Given the description of an element on the screen output the (x, y) to click on. 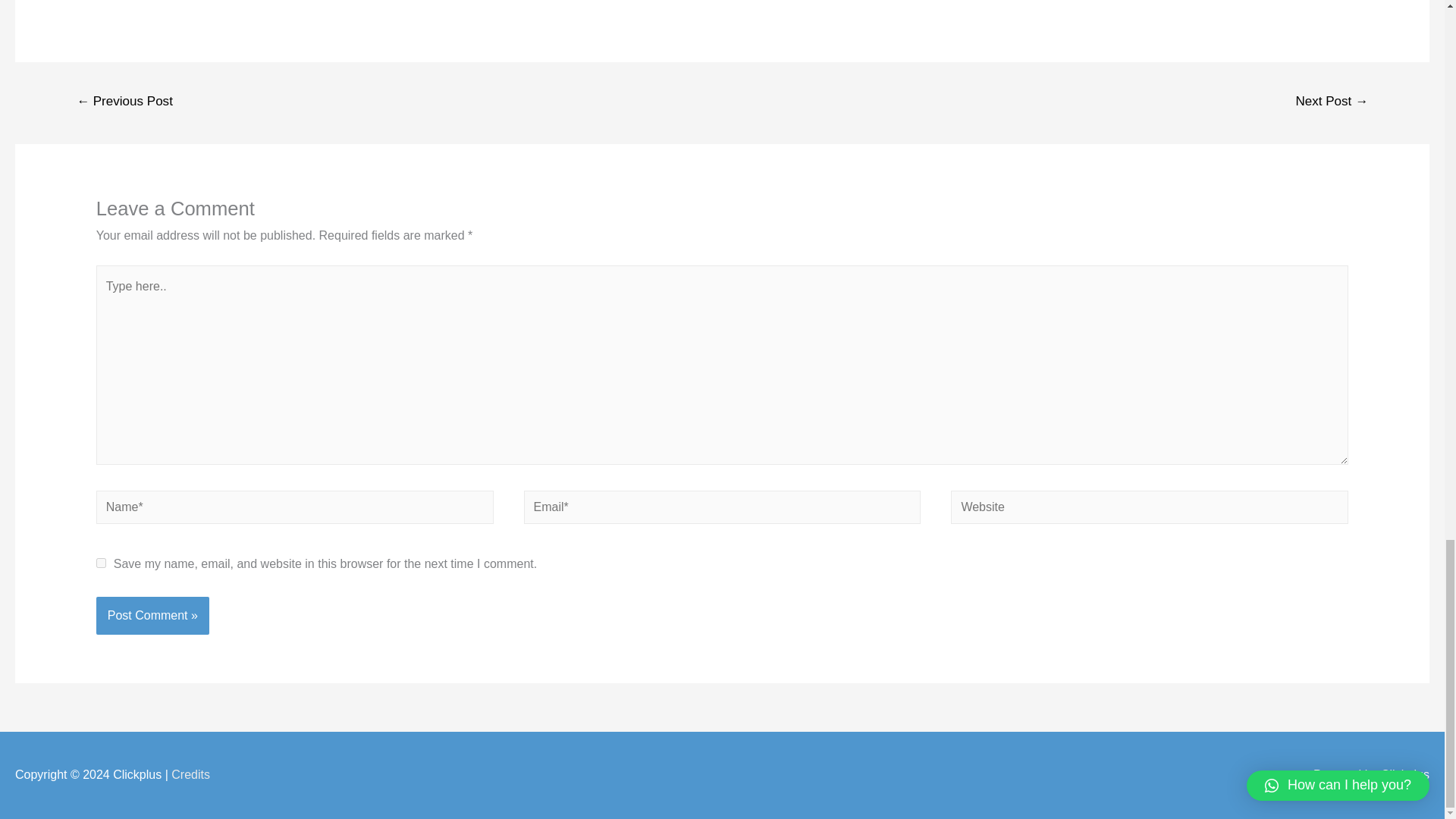
Credits (190, 774)
yes (101, 562)
